Given the description of an element on the screen output the (x, y) to click on. 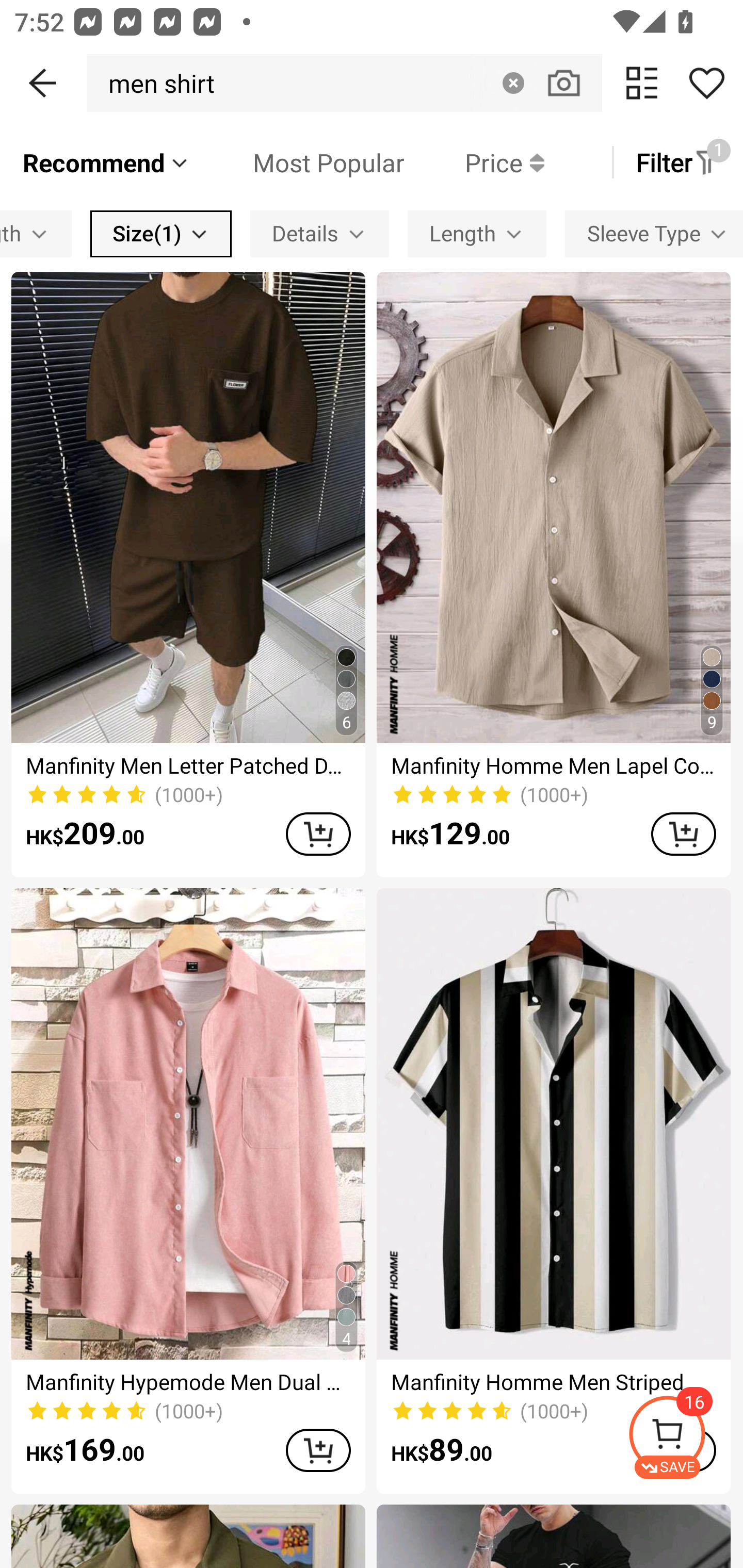
men shirt Clear (343, 82)
men shirt (155, 82)
Clear (513, 82)
change view (641, 82)
Share (706, 82)
Recommend (106, 162)
Most Popular (297, 162)
Price (474, 162)
Filter 1 (677, 162)
Size(1) (160, 233)
Details (319, 233)
Length (476, 233)
Sleeve Type (653, 233)
ADD TO CART (318, 834)
ADD TO CART (683, 834)
SAVE (685, 1436)
ADD TO CART (318, 1450)
